Given the description of an element on the screen output the (x, y) to click on. 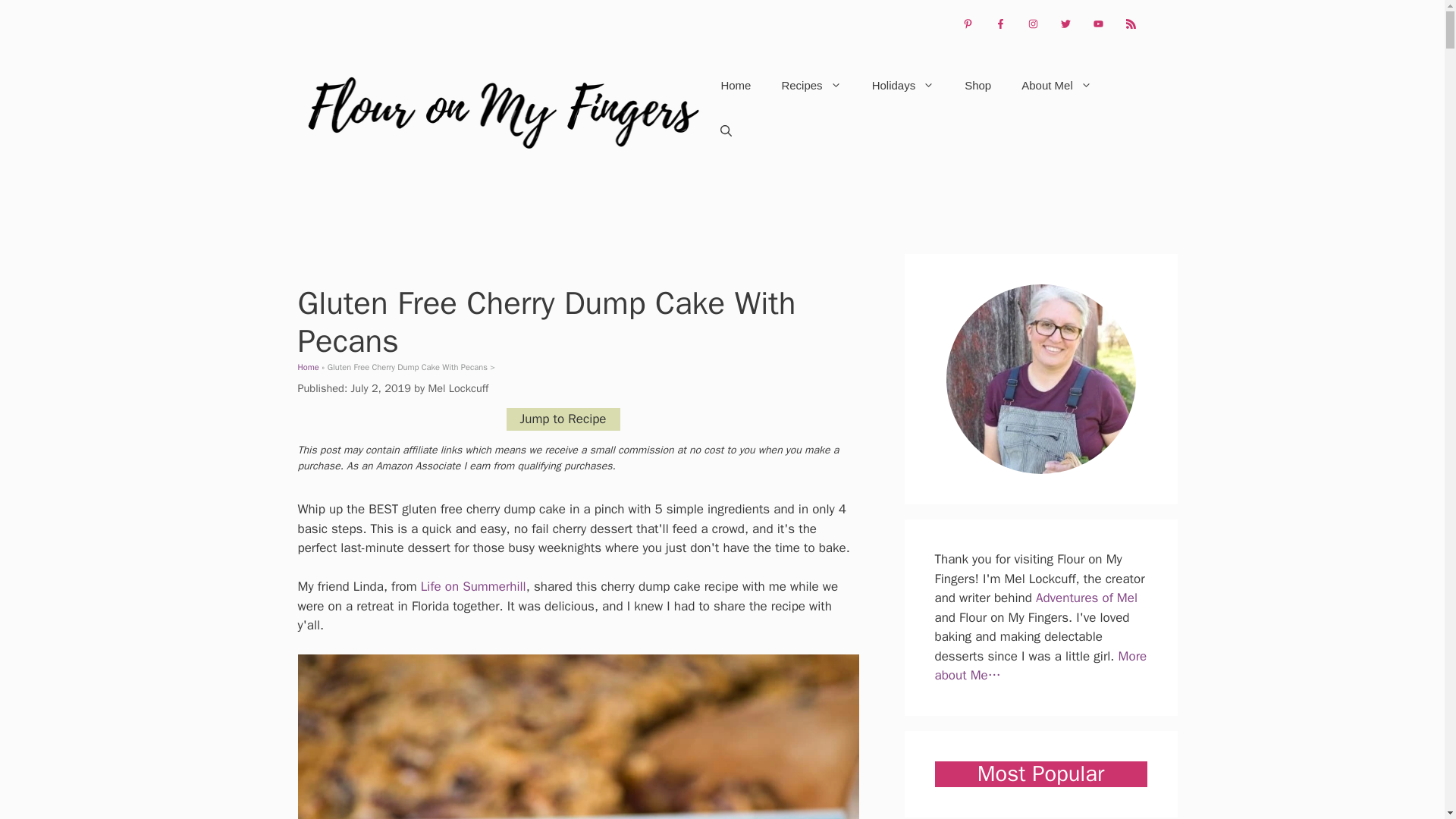
All about Mel Lockcuff (457, 387)
Holidays (903, 85)
Home (734, 85)
Recipes (810, 85)
